Given the description of an element on the screen output the (x, y) to click on. 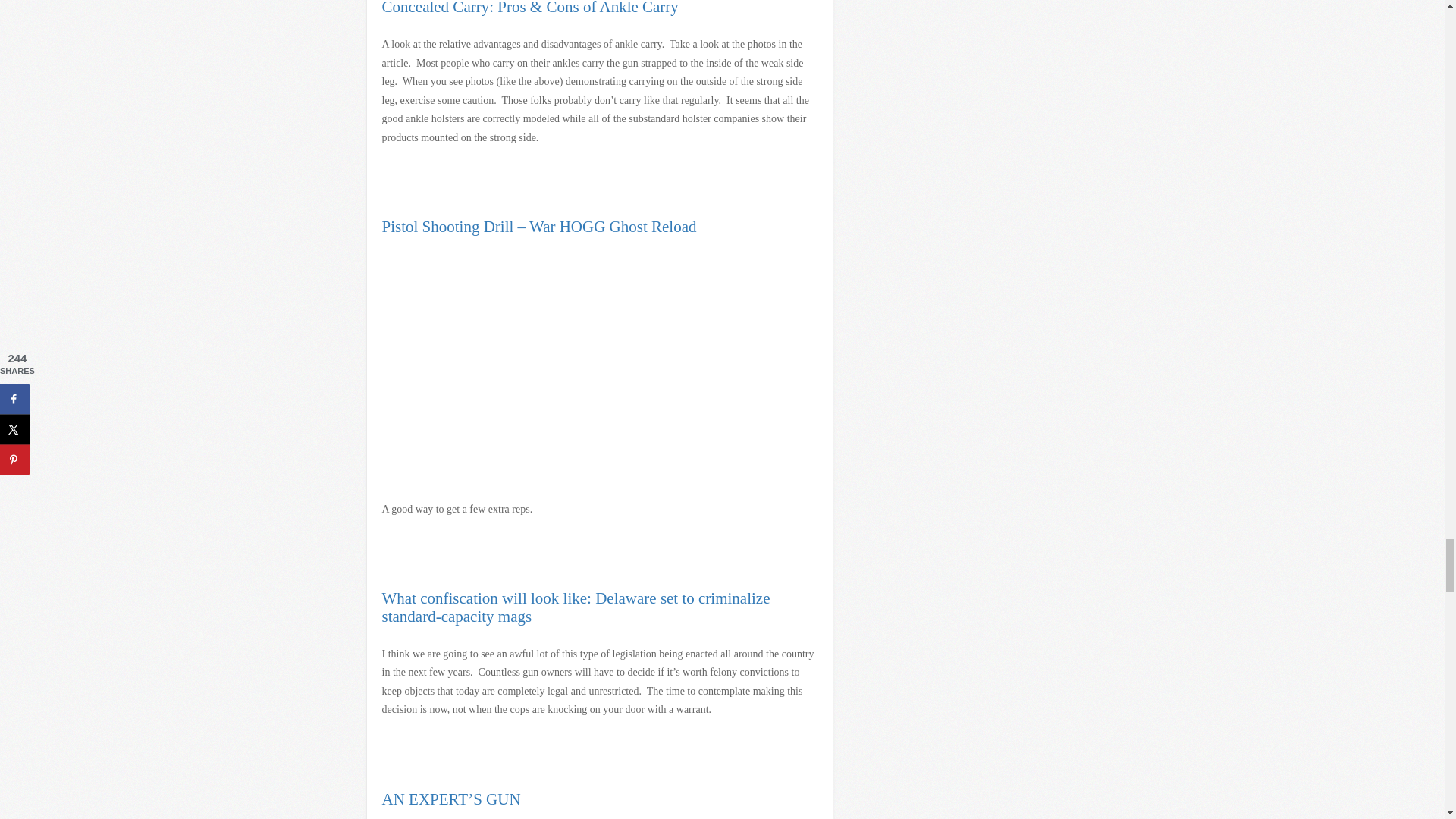
YouTube video player (593, 362)
